Given the description of an element on the screen output the (x, y) to click on. 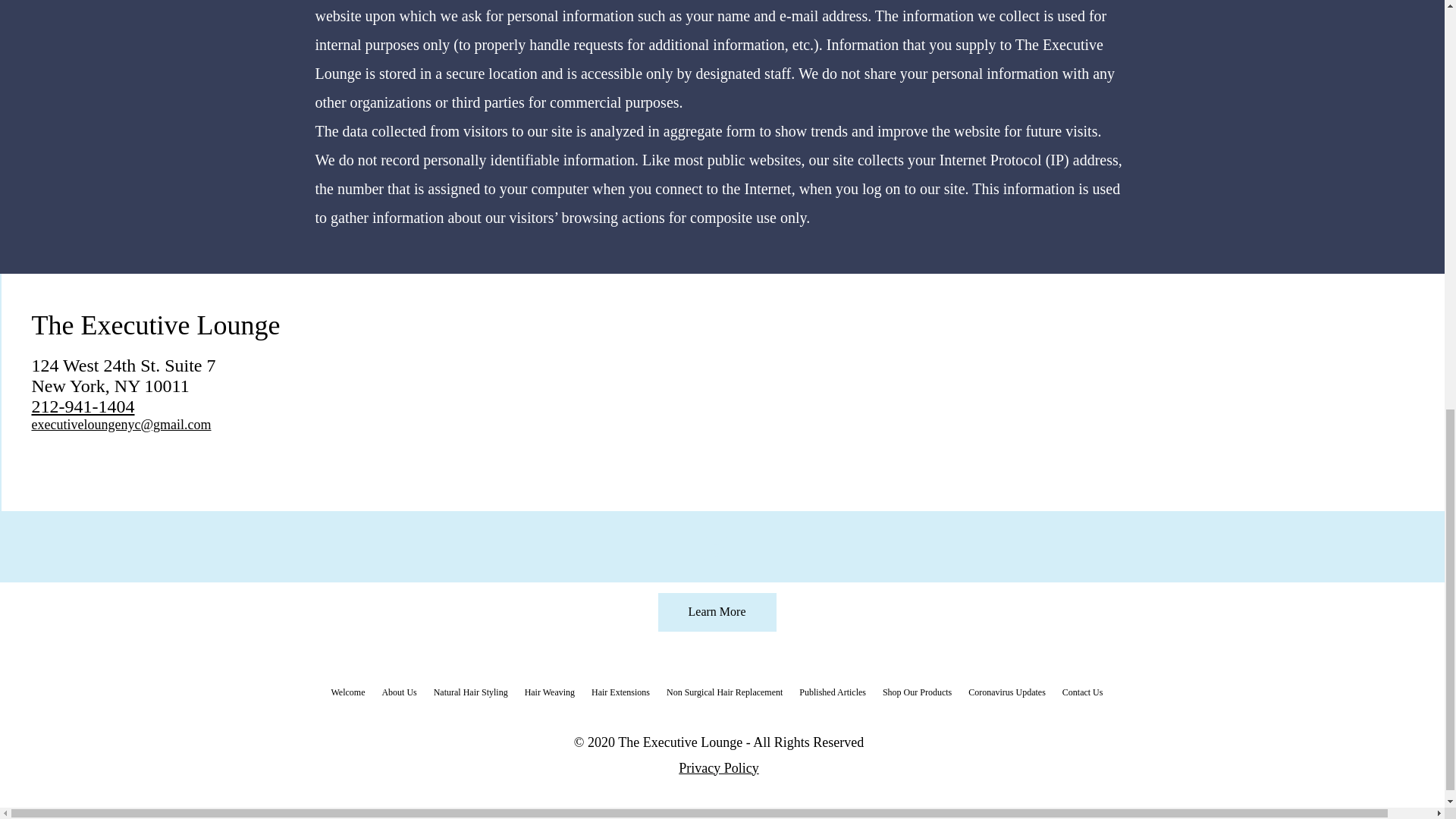
Contact Us (1083, 692)
Coronavirus Updates (1006, 692)
Privacy Policy (718, 768)
Hair Weaving (549, 692)
212-941-1404 (83, 406)
Welcome (348, 692)
Shop Our Products (917, 692)
About Us (398, 692)
Learn More (717, 611)
Hair Extensions (620, 692)
